Given the description of an element on the screen output the (x, y) to click on. 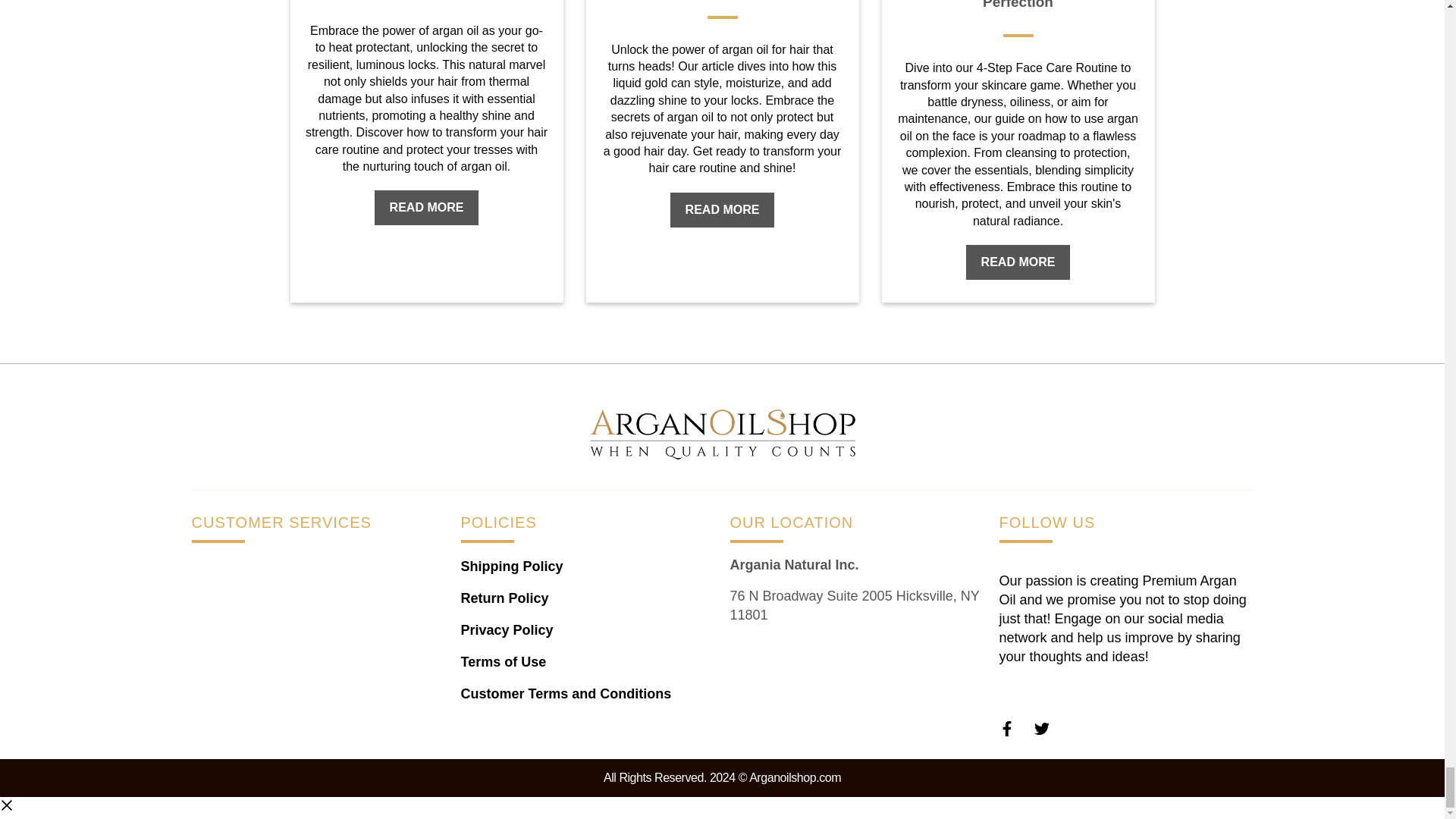
READ MORE (426, 207)
